Given the description of an element on the screen output the (x, y) to click on. 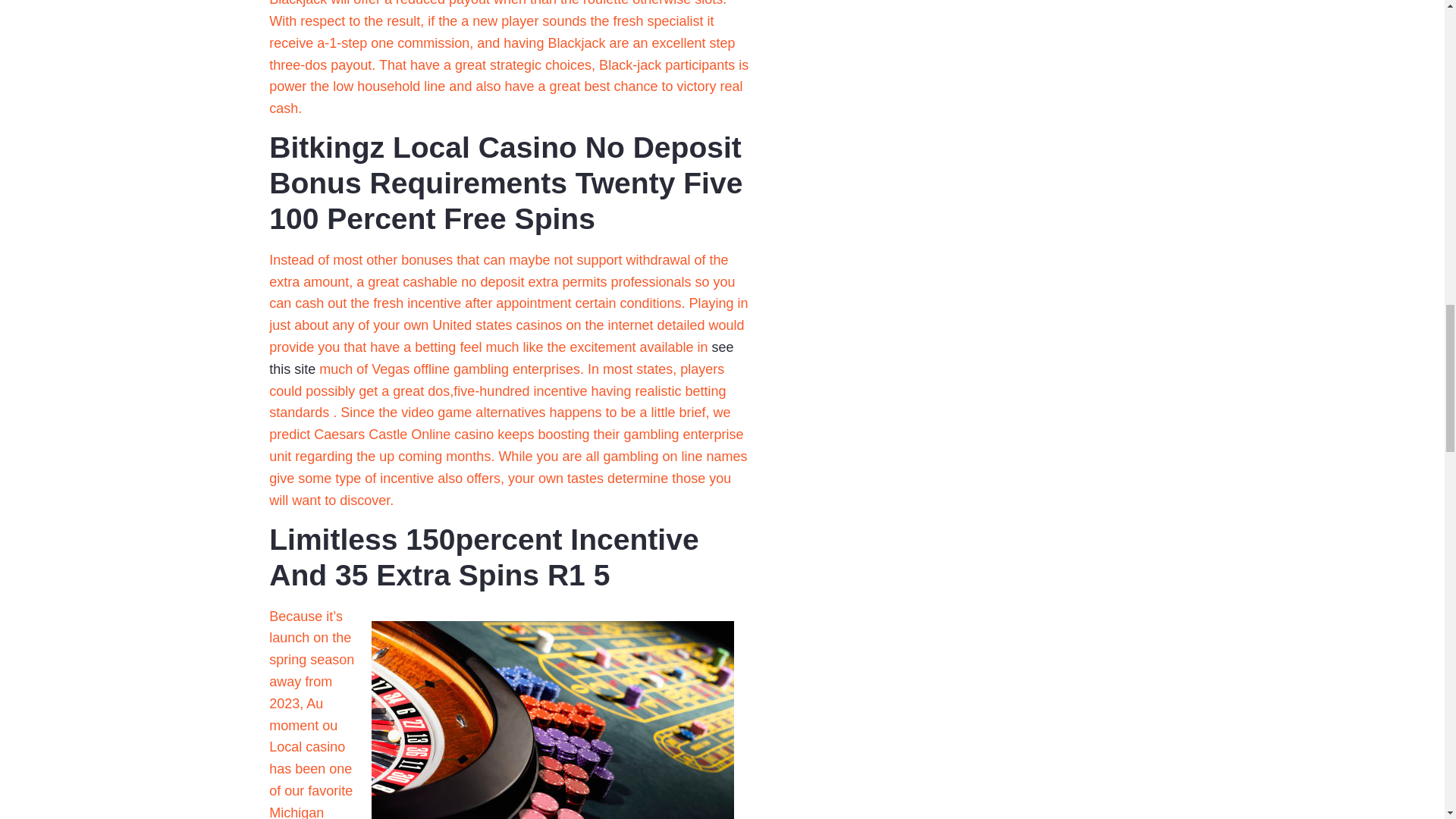
see this site (501, 357)
